Given the description of an element on the screen output the (x, y) to click on. 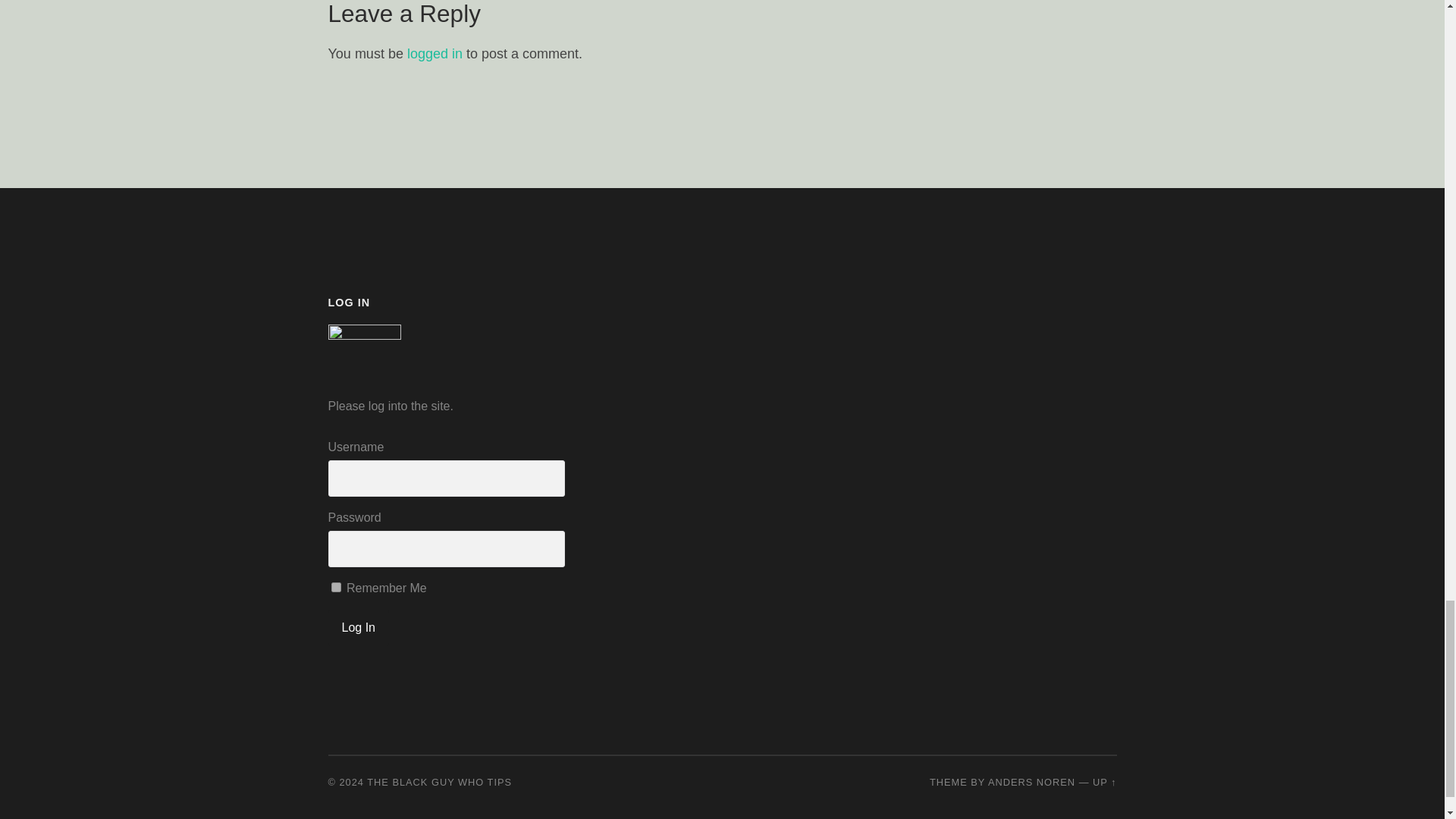
Log In (357, 627)
logged in (435, 53)
To the top (1104, 781)
forever (335, 587)
